Given the description of an element on the screen output the (x, y) to click on. 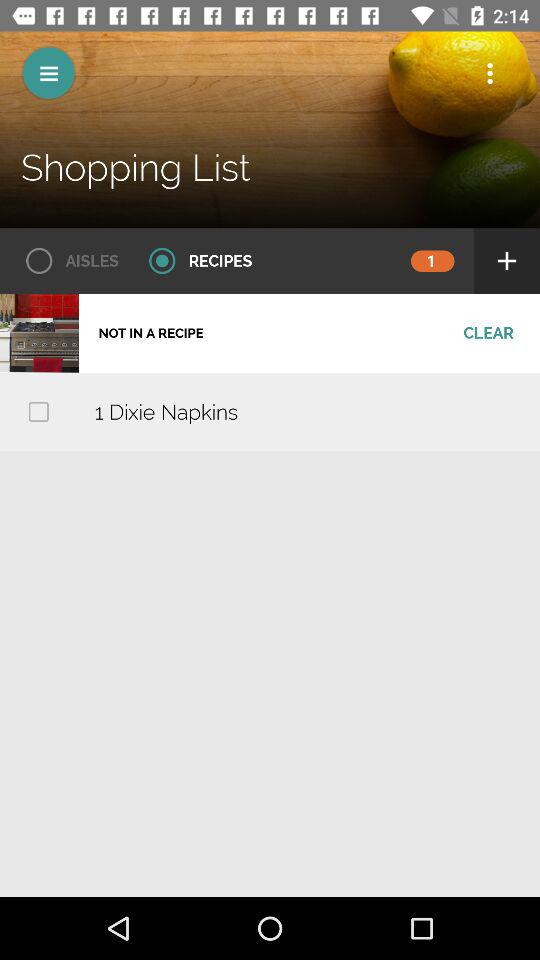
more options (490, 73)
